Given the description of an element on the screen output the (x, y) to click on. 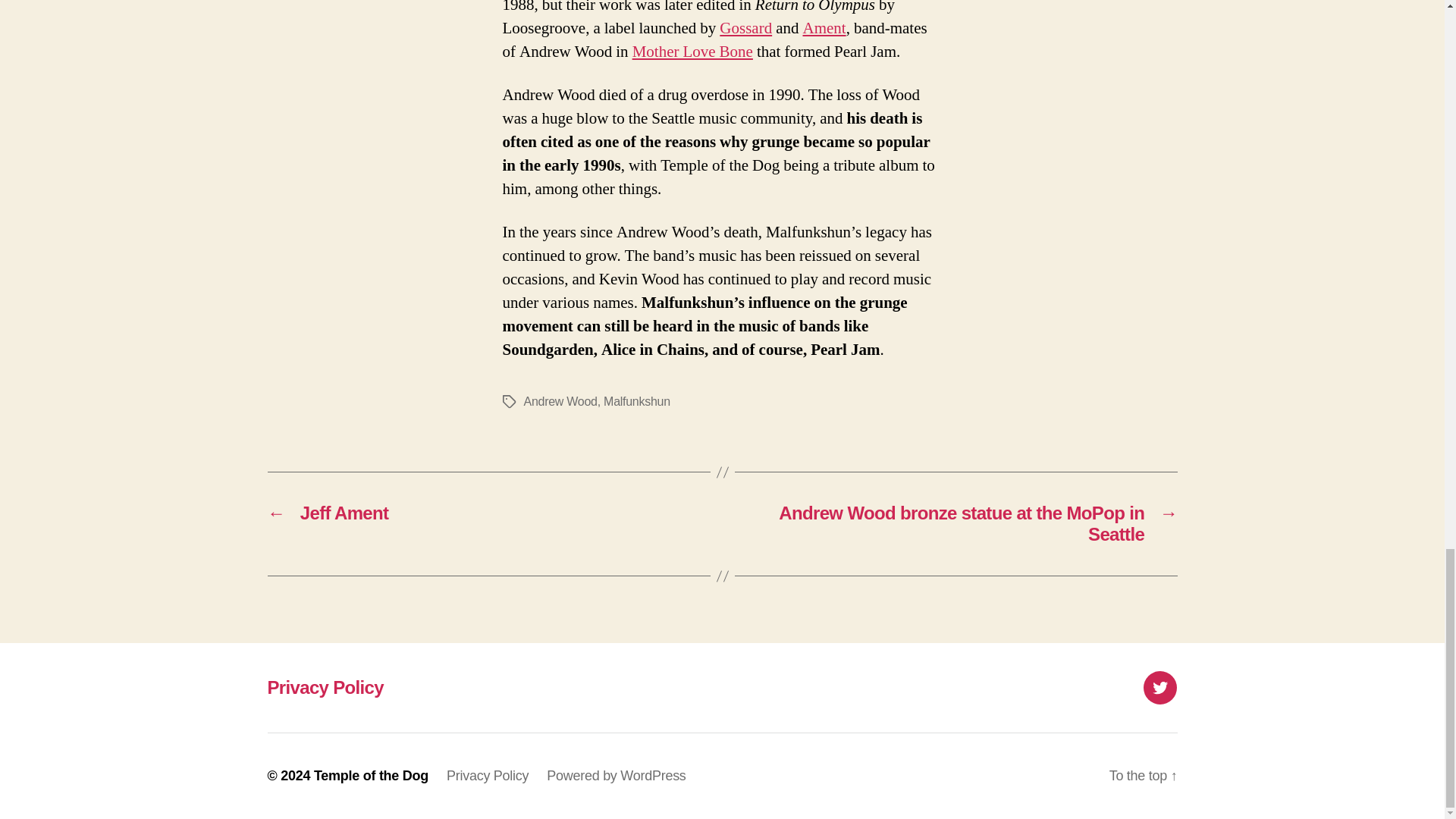
Twitter (1159, 687)
Andrew Wood (559, 400)
Ament (823, 28)
Gossard (745, 28)
Privacy Policy (487, 775)
Malfunkshun (636, 400)
Privacy Policy (324, 687)
Mother Love Bone (691, 51)
Temple of the Dog (371, 775)
Powered by WordPress (616, 775)
